Given the description of an element on the screen output the (x, y) to click on. 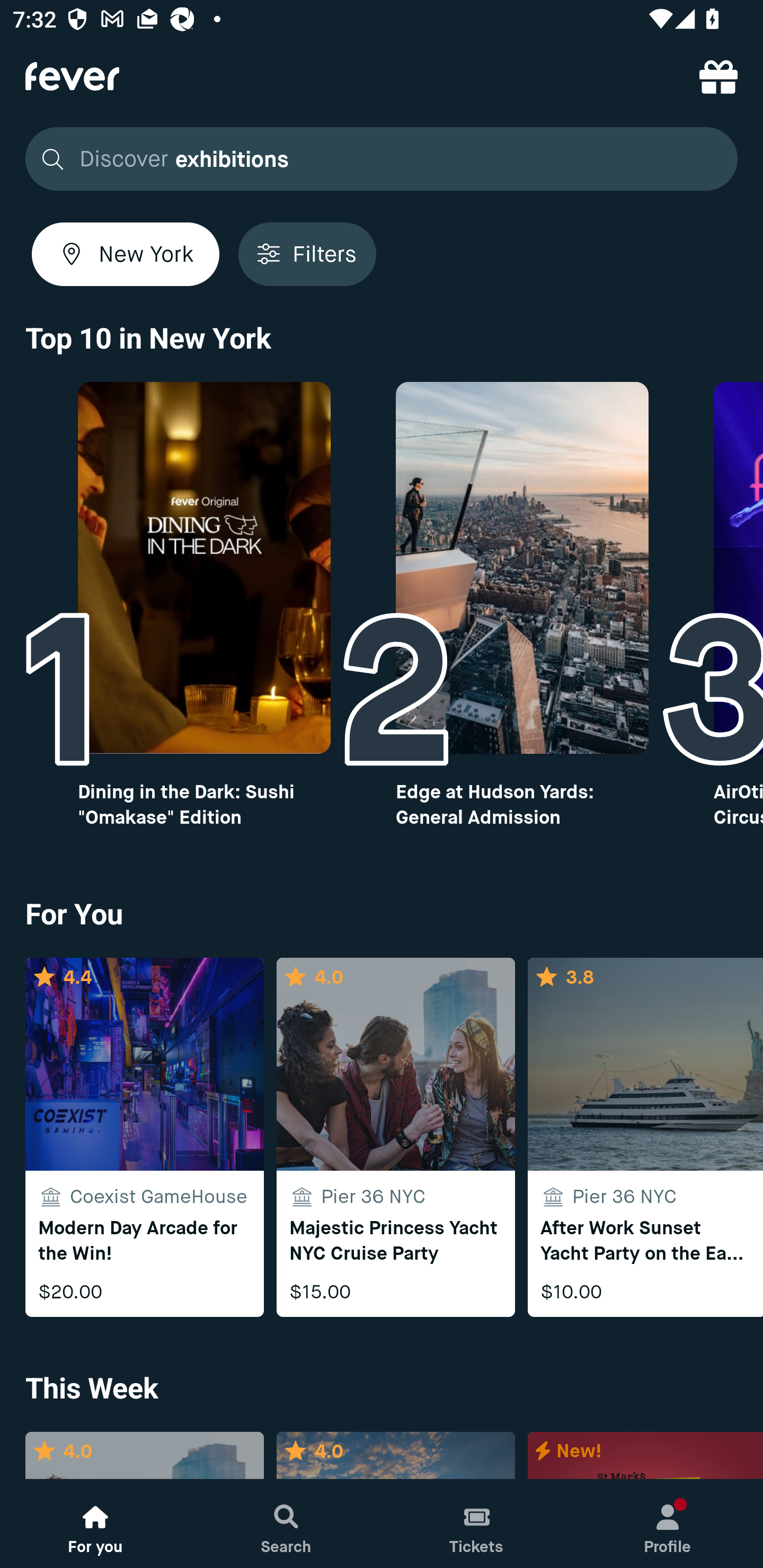
referral (718, 75)
Discover exhibitions (381, 158)
Discover exhibitions (376, 158)
New York (125, 253)
Filters (307, 253)
Top10 image (203, 568)
Top10 image (521, 568)
Search (285, 1523)
Tickets (476, 1523)
Profile, New notification Profile (667, 1523)
